Given the description of an element on the screen output the (x, y) to click on. 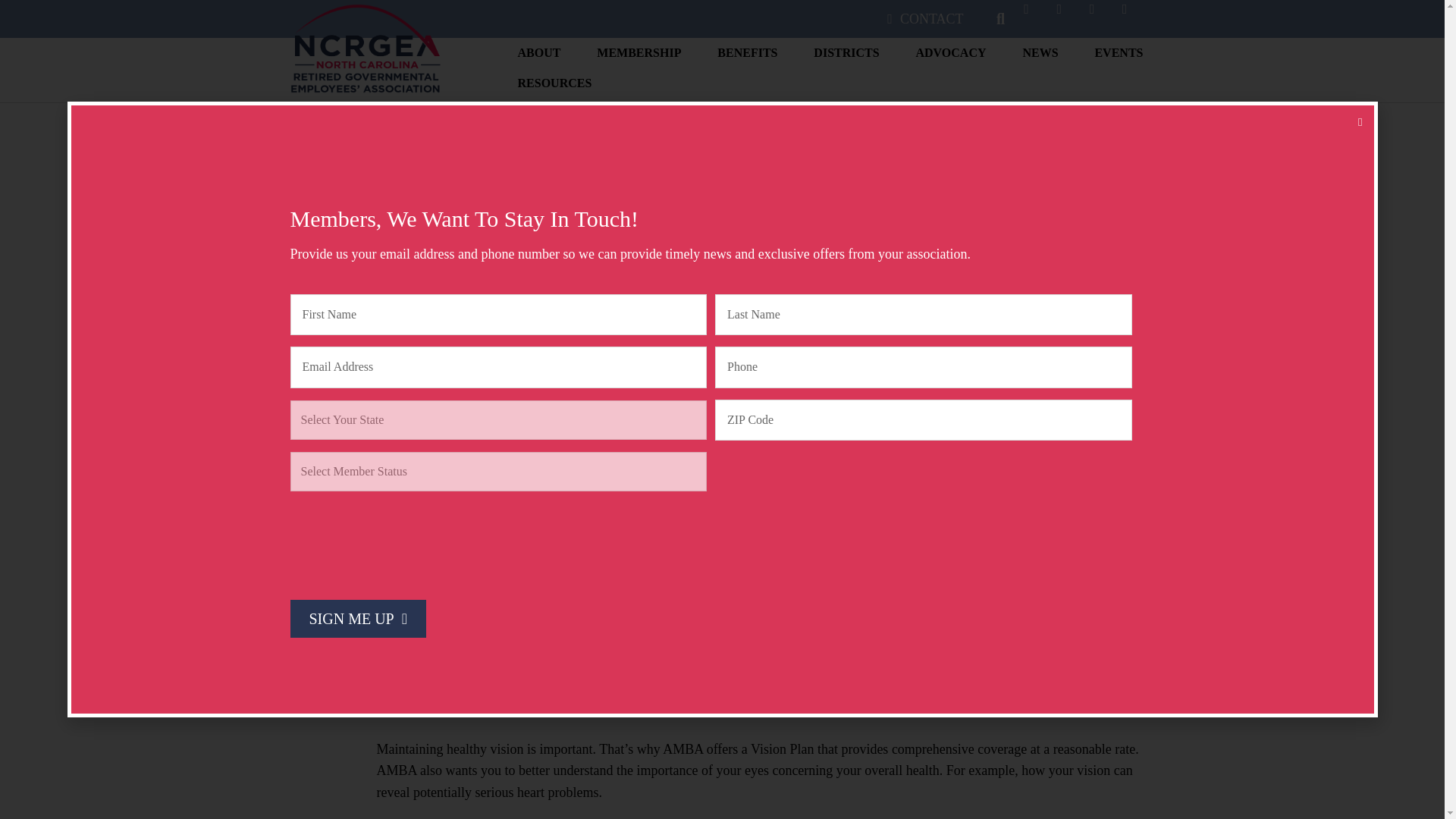
CONTACT (925, 19)
ABOUT (539, 56)
